Given the description of an element on the screen output the (x, y) to click on. 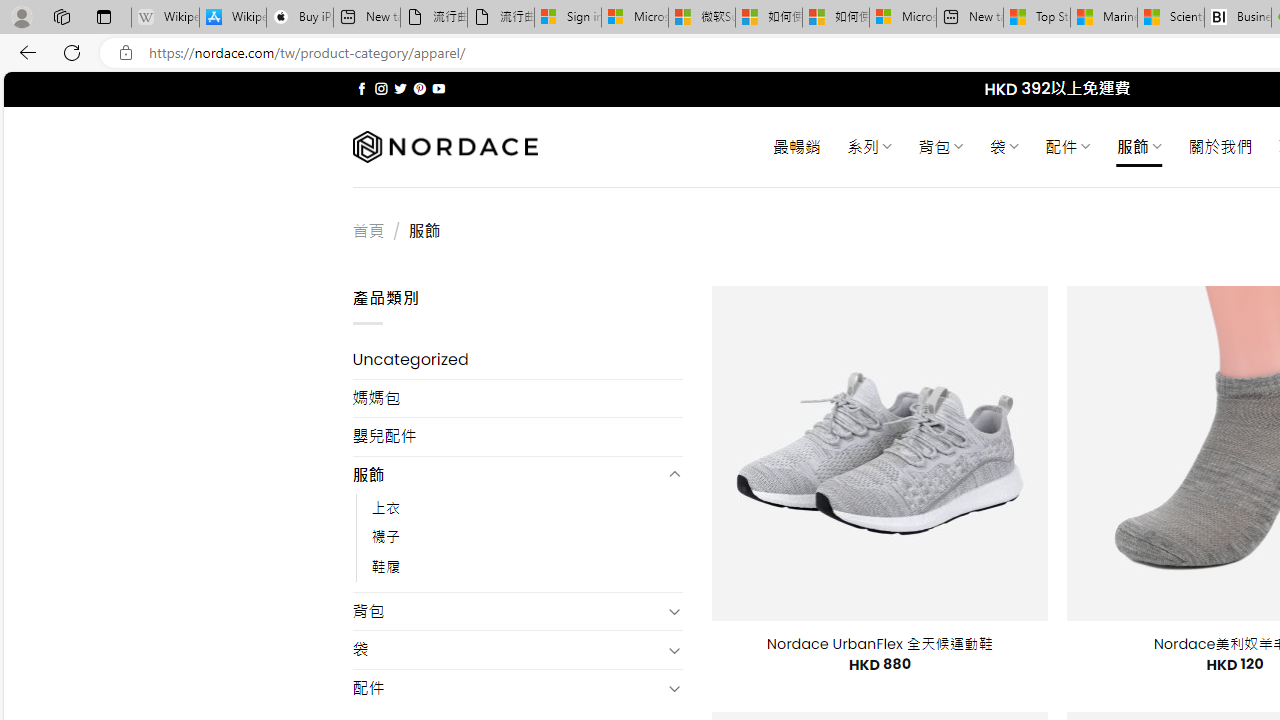
Follow on Facebook (361, 88)
